Given the description of an element on the screen output the (x, y) to click on. 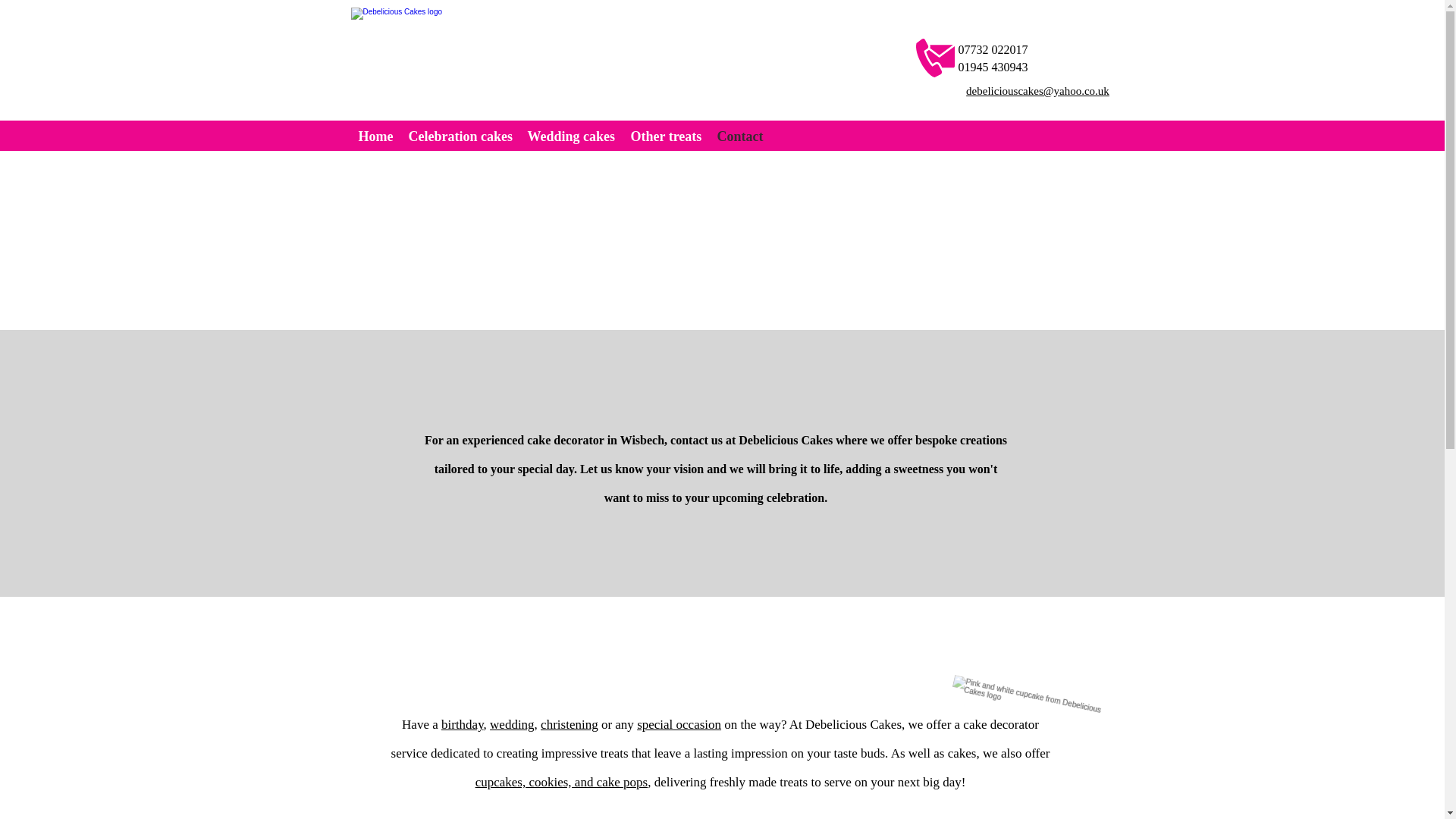
Celebration cakes (459, 135)
wedding (511, 724)
Other treats (666, 135)
special occasion (678, 724)
birthday (462, 724)
Wedding cakes (571, 135)
cupcakes, cookies, and cake pops (561, 781)
christening (569, 724)
Contact (740, 135)
Home (375, 135)
